Given the description of an element on the screen output the (x, y) to click on. 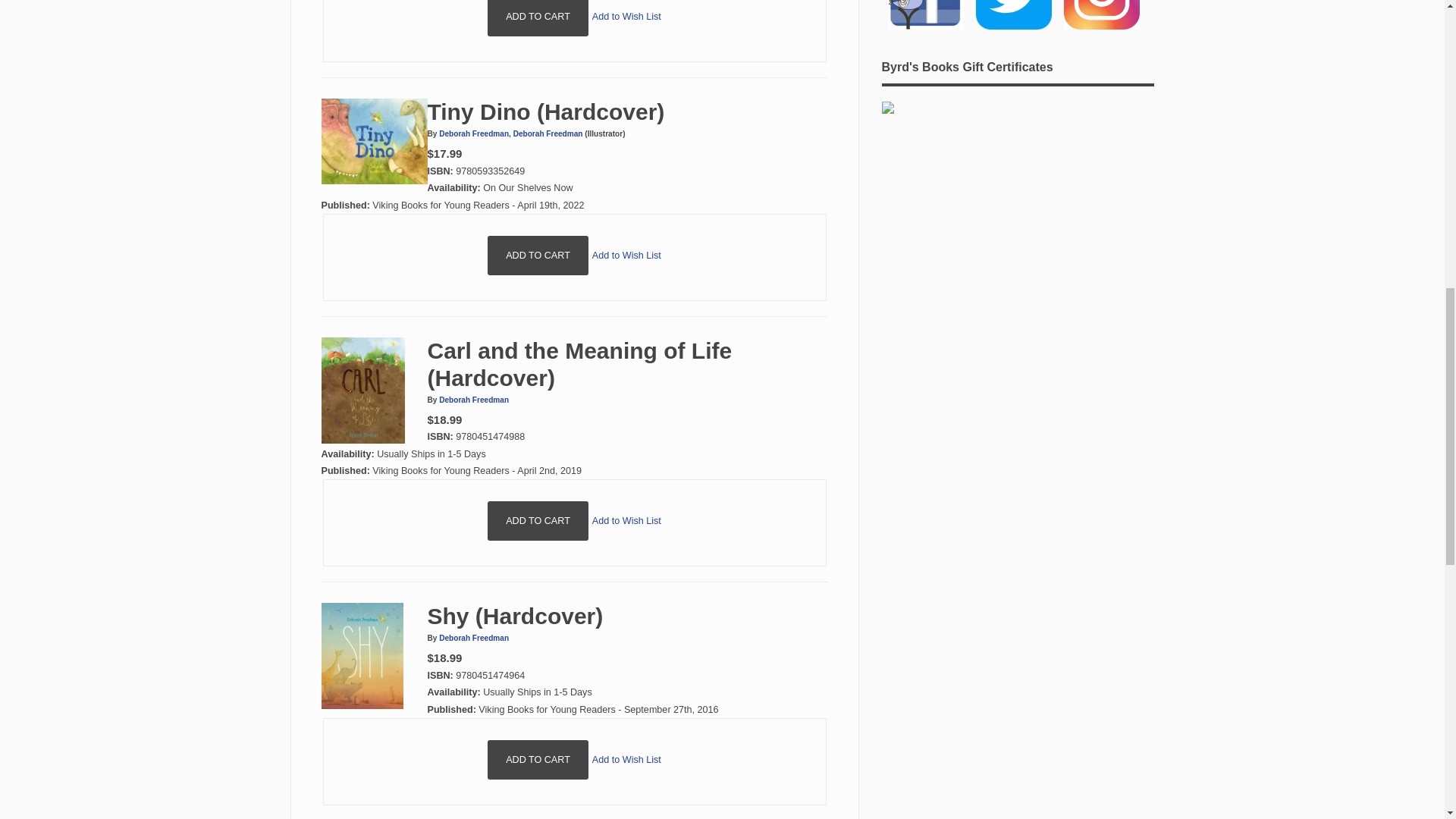
Deborah Freedman (548, 133)
Add to Wish List (626, 255)
Add to Cart (537, 520)
Add to Cart (537, 255)
Add to Cart (537, 18)
Add to Wish List (626, 520)
Add to Cart (537, 18)
Add to Cart (537, 759)
Add to Cart (537, 520)
Deborah Freedman (473, 637)
